Given the description of an element on the screen output the (x, y) to click on. 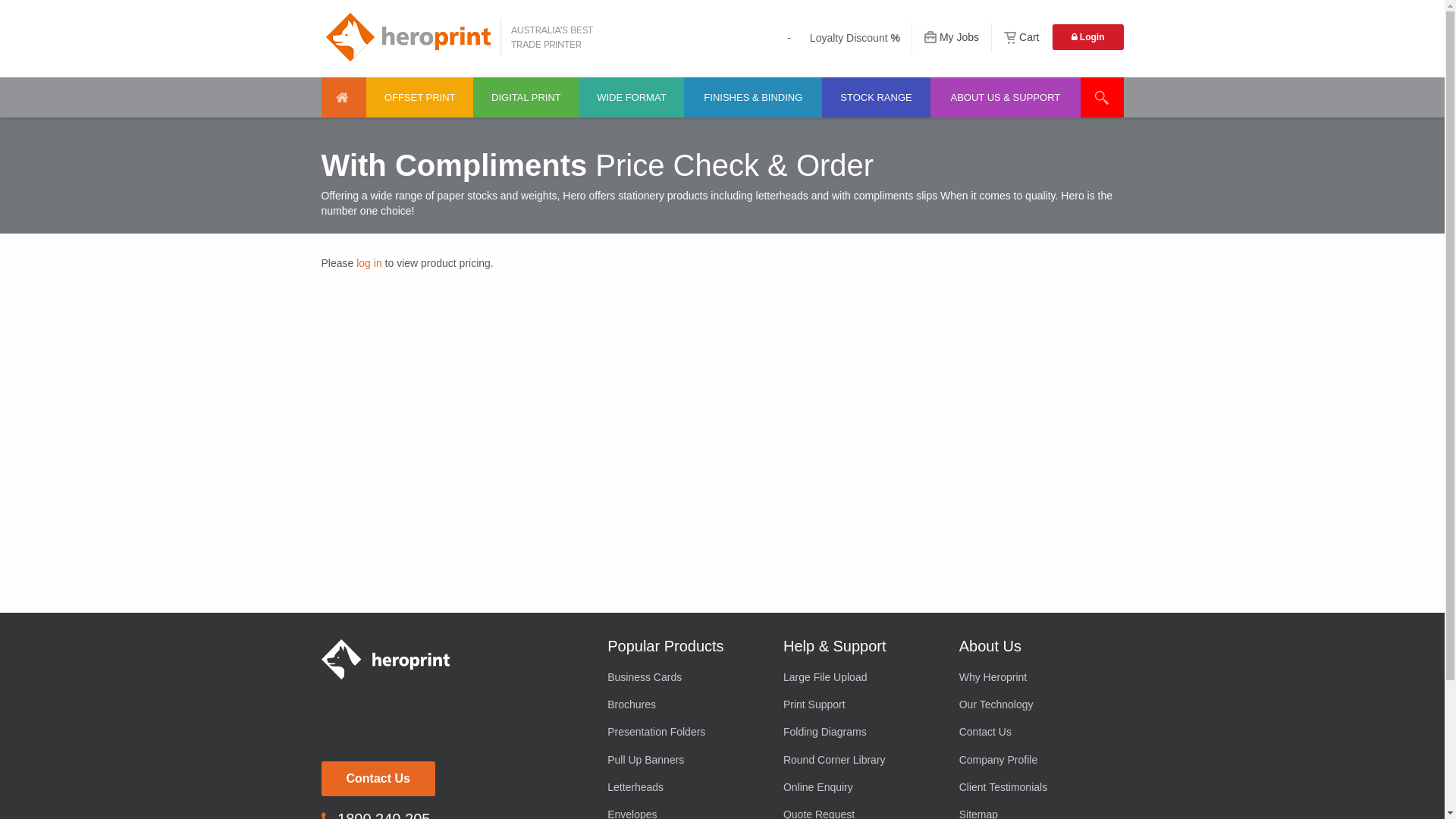
Pull Up Banners Element type: text (683, 759)
OFFSET PRINT Element type: text (419, 96)
Contact Us Element type: text (1035, 731)
ABOUT US & SUPPORT Element type: text (1005, 96)
FINISHES & BINDING Element type: text (753, 96)
Client Testimonials Element type: text (1035, 786)
Why Heroprint Element type: text (1035, 676)
Brochures Element type: text (683, 704)
Our Technology Element type: text (1035, 704)
Folding Diagrams Element type: text (859, 731)
Print Support Element type: text (859, 704)
Contact Us Element type: text (378, 778)
My Jobs Element type: text (951, 36)
Large File Upload Element type: text (859, 676)
Business Cards Element type: text (683, 676)
STOCK RANGE Element type: text (875, 96)
log in Element type: text (368, 263)
Cart Element type: text (1021, 36)
HOME Element type: text (344, 97)
Login Element type: text (1087, 37)
Company Profile Element type: text (1035, 759)
DIGITAL PRINT Element type: text (525, 96)
Round Corner Library Element type: text (859, 759)
Letterheads Element type: text (683, 786)
Online Enquiry Element type: text (859, 786)
WIDE FORMAT Element type: text (631, 96)
Presentation Folders Element type: text (683, 731)
